Given the description of an element on the screen output the (x, y) to click on. 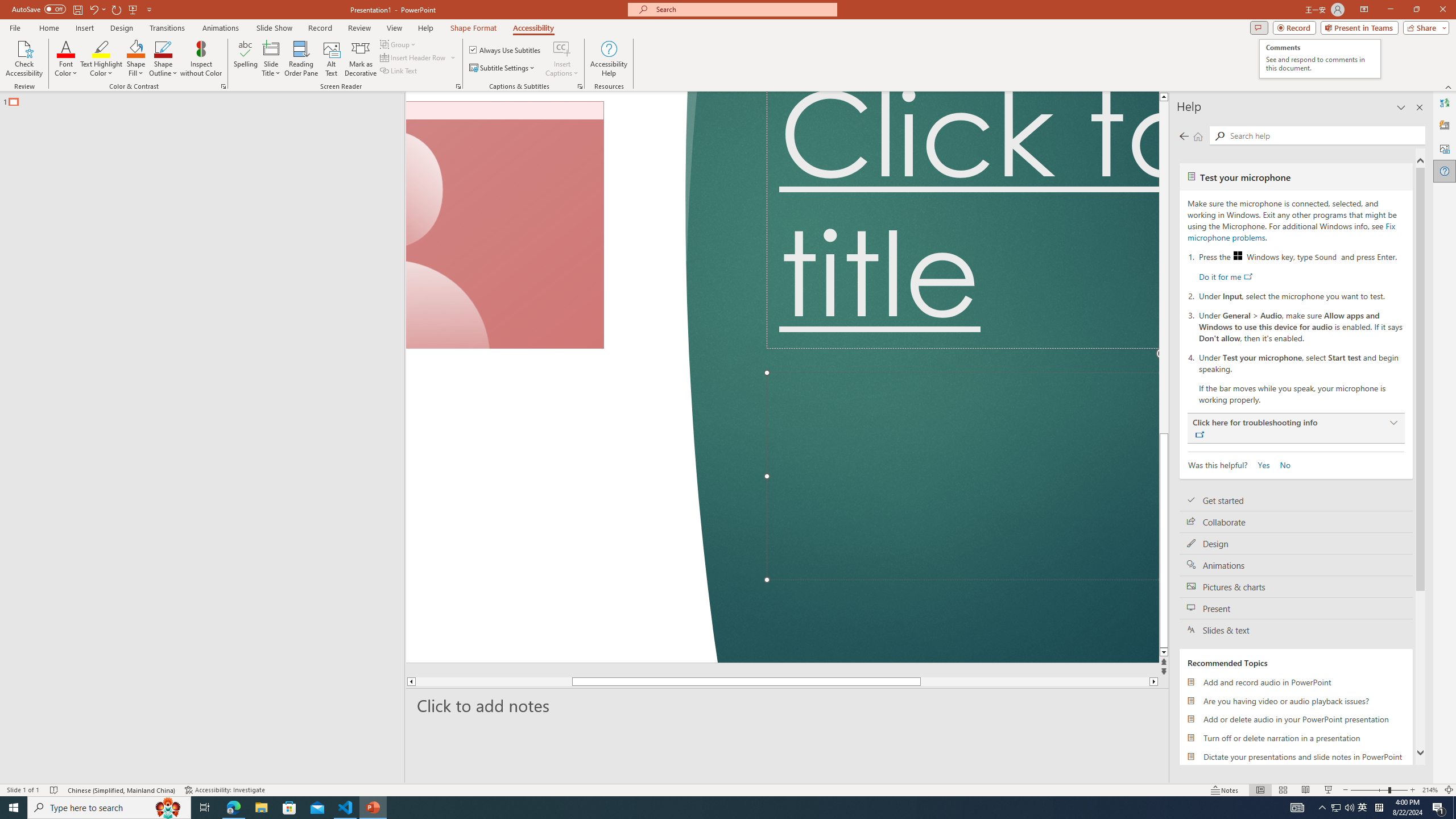
Normal (1260, 790)
Decorative Locked (561, 376)
Review (359, 28)
Slide Title (271, 58)
Pictures & charts (1295, 586)
Class: MsoCommandBar (728, 789)
Inspect without Color (201, 58)
Close pane (1419, 107)
Present (1295, 608)
Zoom In (1412, 790)
Redo (117, 9)
